Given the description of an element on the screen output the (x, y) to click on. 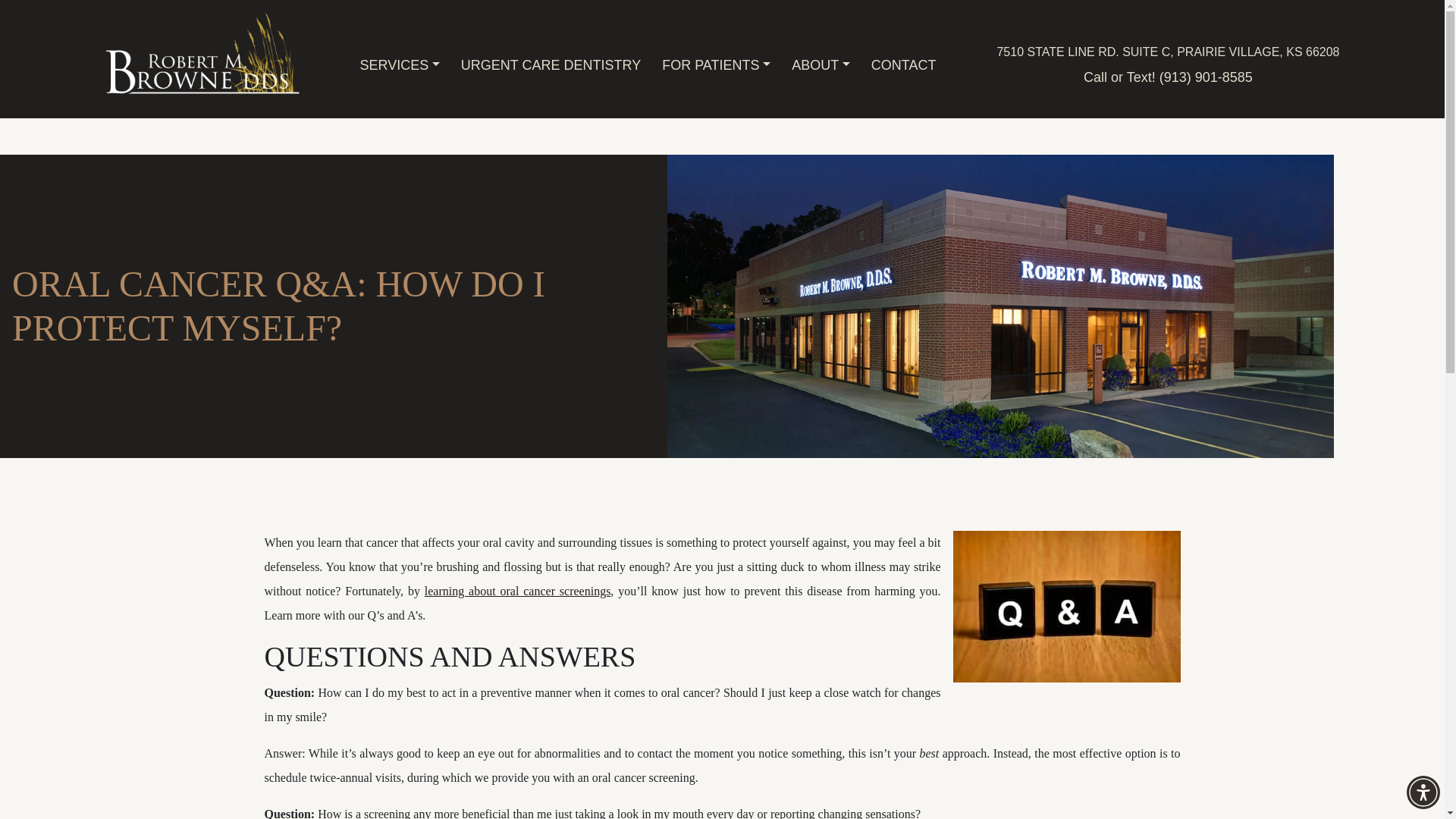
Urgent Care Dentistry (550, 64)
SERVICES (399, 64)
URGENT CARE DENTISTRY (550, 64)
Accessibility Menu (1422, 792)
For Patients (716, 64)
learning about oral cancer screenings (518, 590)
ABOUT (821, 64)
Services (399, 64)
FOR PATIENTS (716, 64)
CONTACT (903, 64)
